Given the description of an element on the screen output the (x, y) to click on. 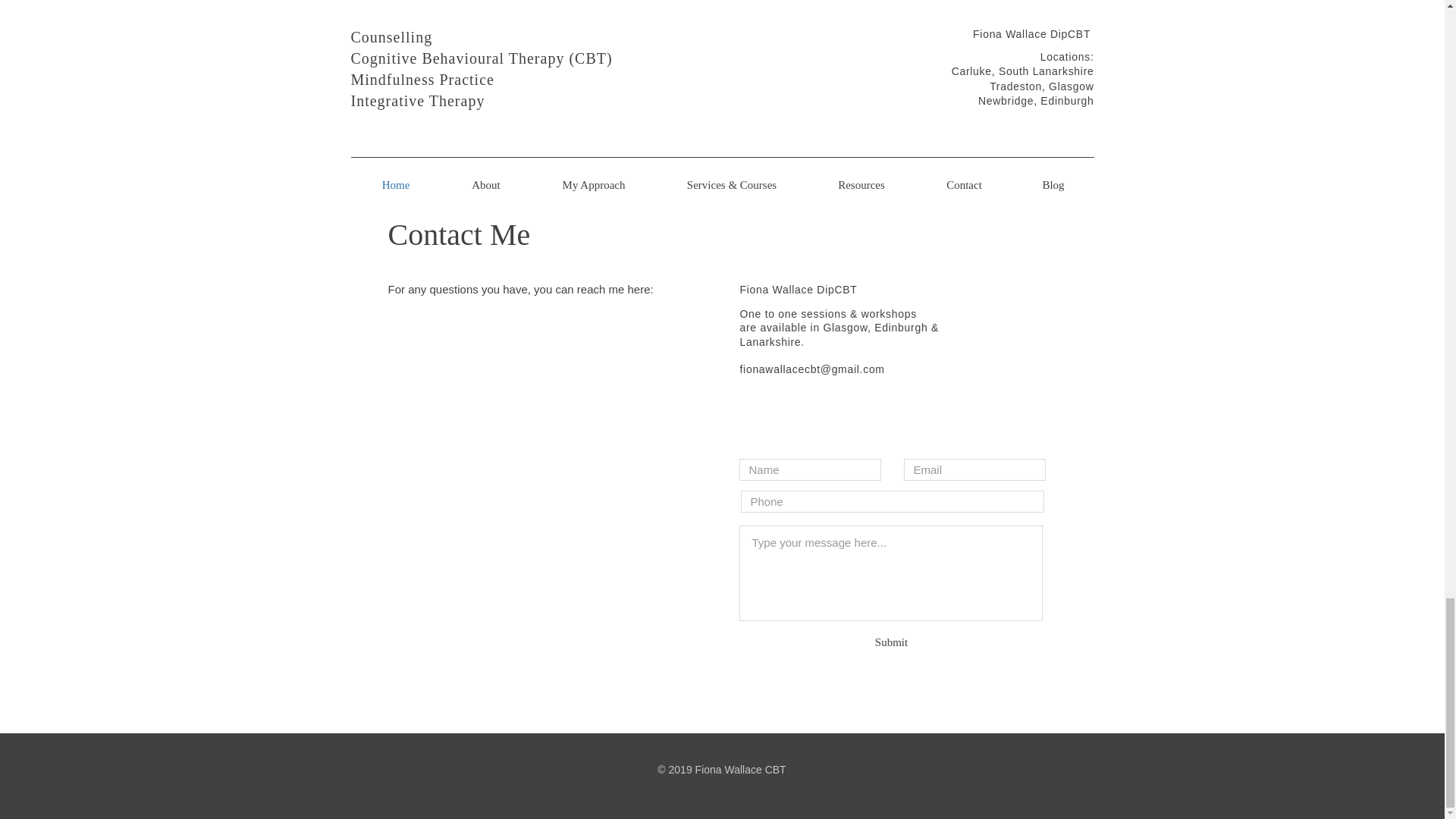
Submit (890, 642)
Click here (577, 138)
